Given the description of an element on the screen output the (x, y) to click on. 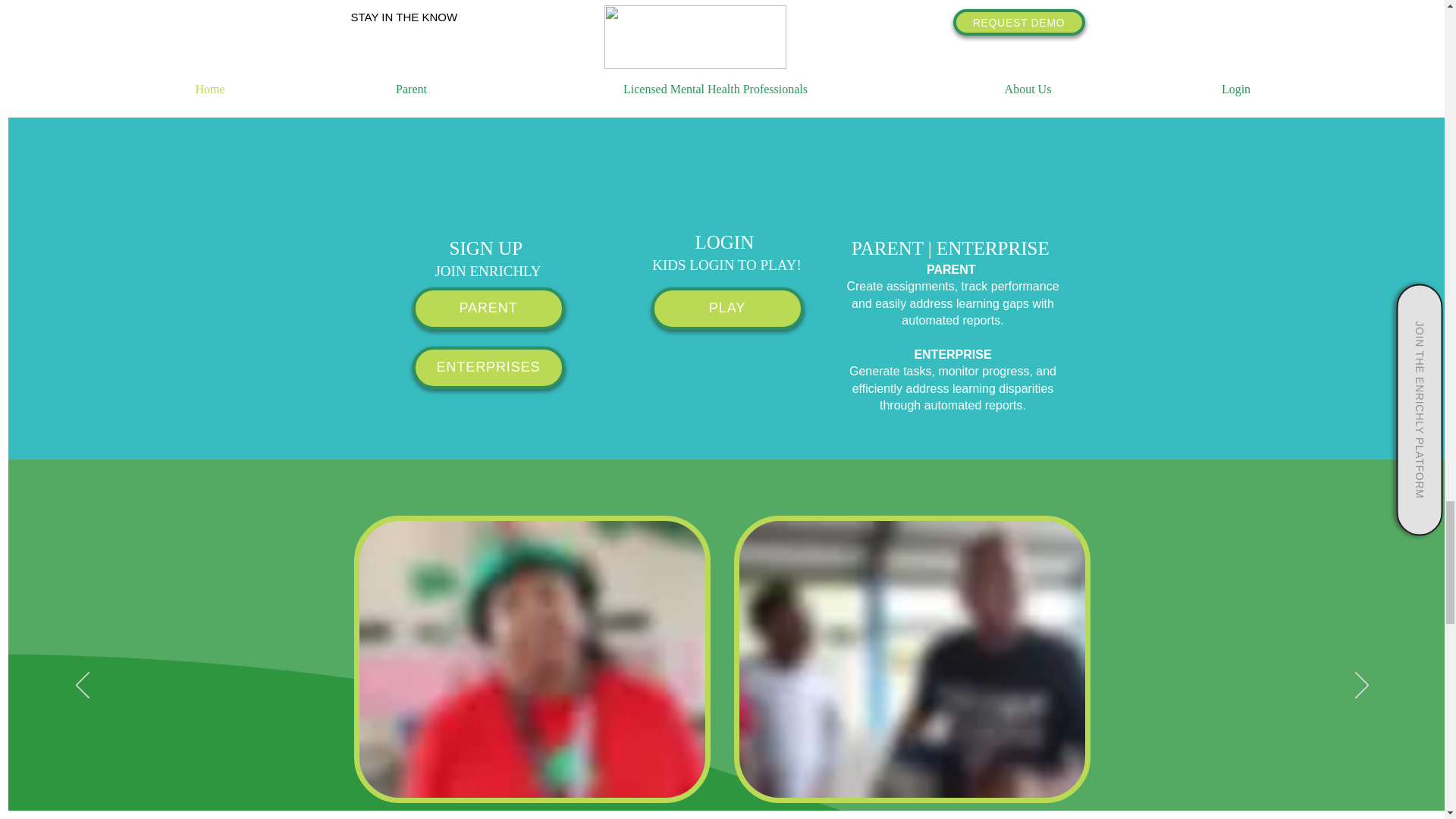
PLAY (726, 308)
ENTERPRISES (488, 367)
PARENT (488, 308)
